Given the description of an element on the screen output the (x, y) to click on. 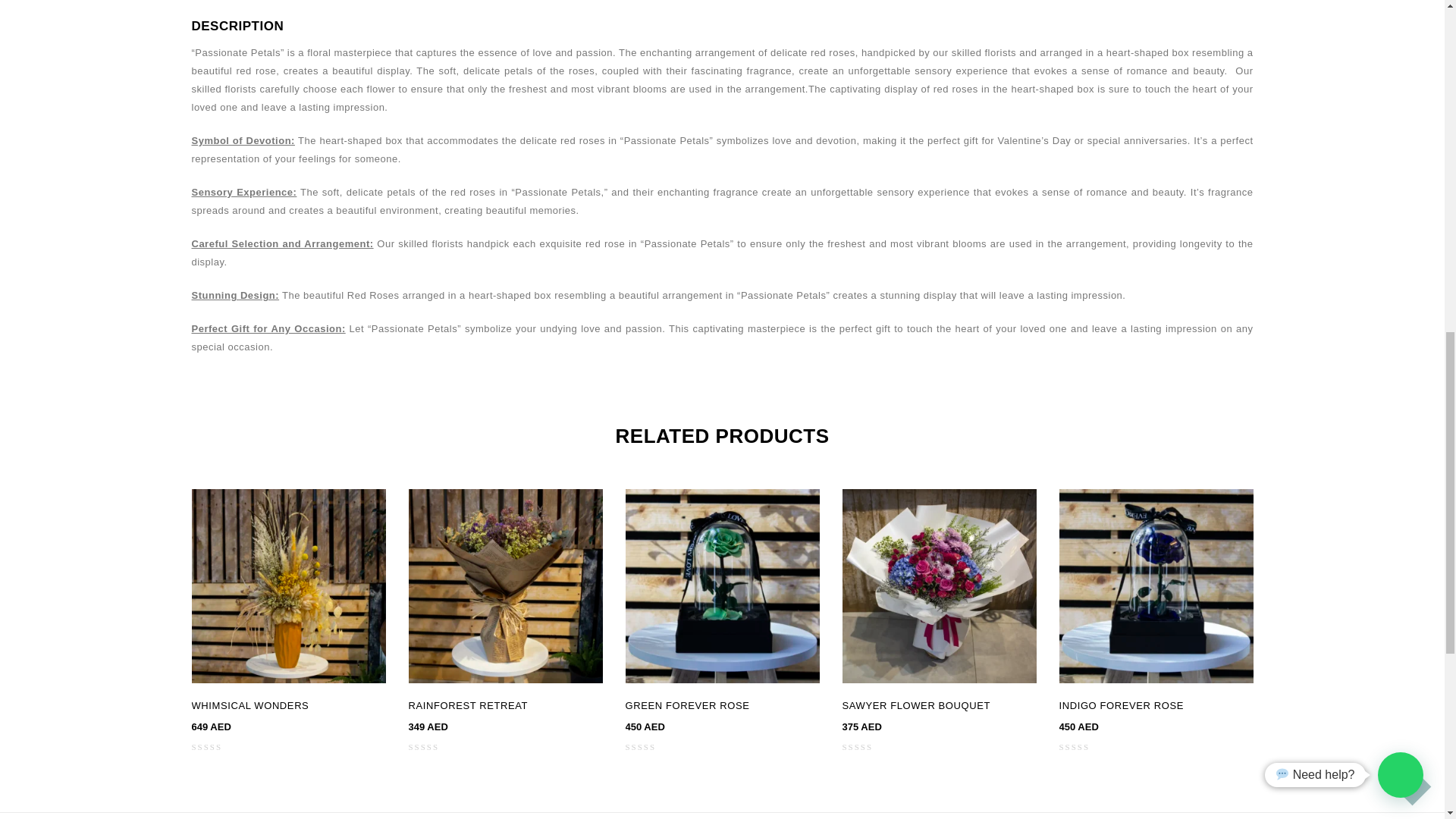
Not yet rated (649, 746)
Not yet rated (866, 746)
Not yet rated (432, 746)
Not yet rated (215, 746)
Not yet rated (1083, 746)
